Given the description of an element on the screen output the (x, y) to click on. 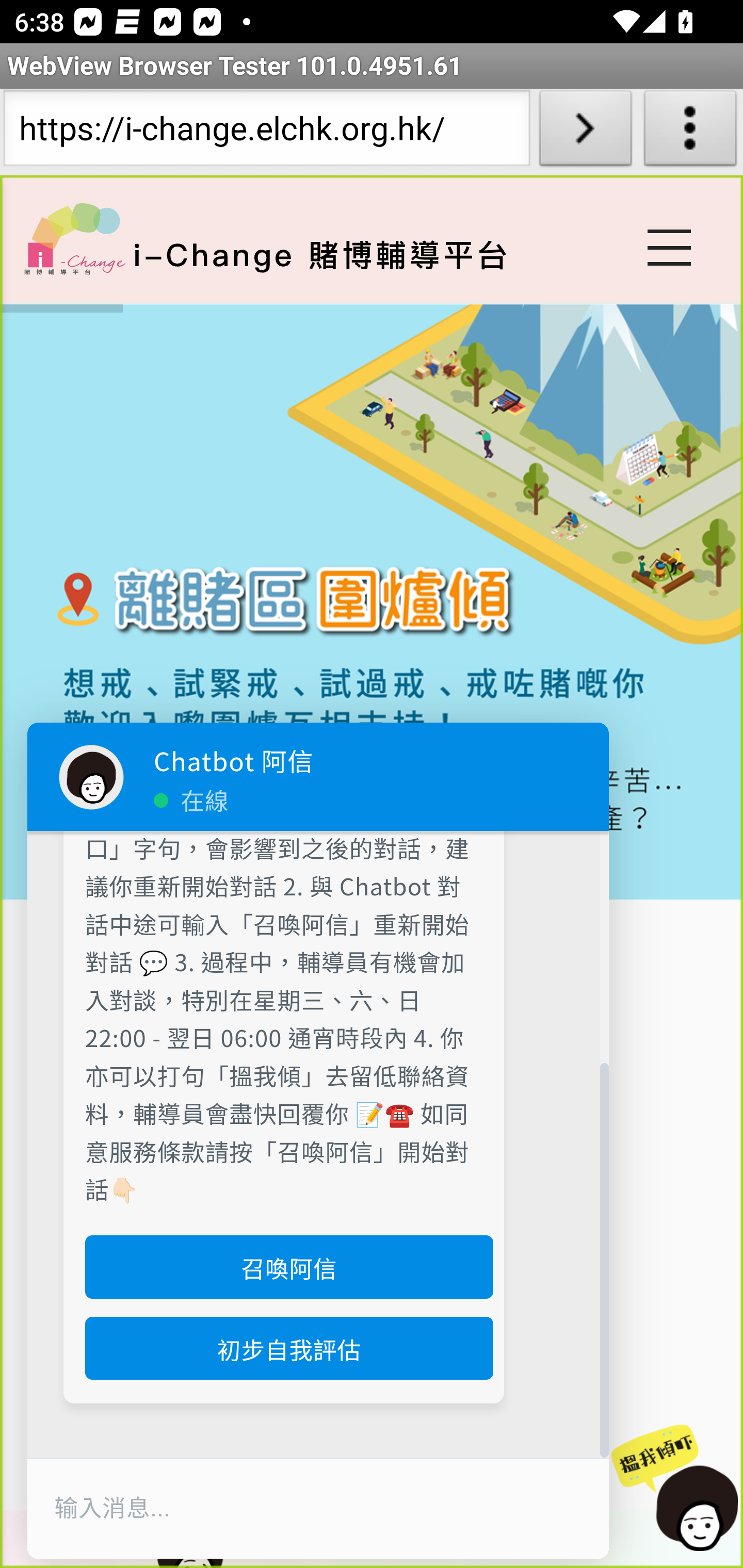
https://i-change.elchk.org.hk/ (266, 132)
Load URL (585, 132)
About WebView (690, 132)
Home (74, 238)
Chat Now (667, 1488)
